Given the description of an element on the screen output the (x, y) to click on. 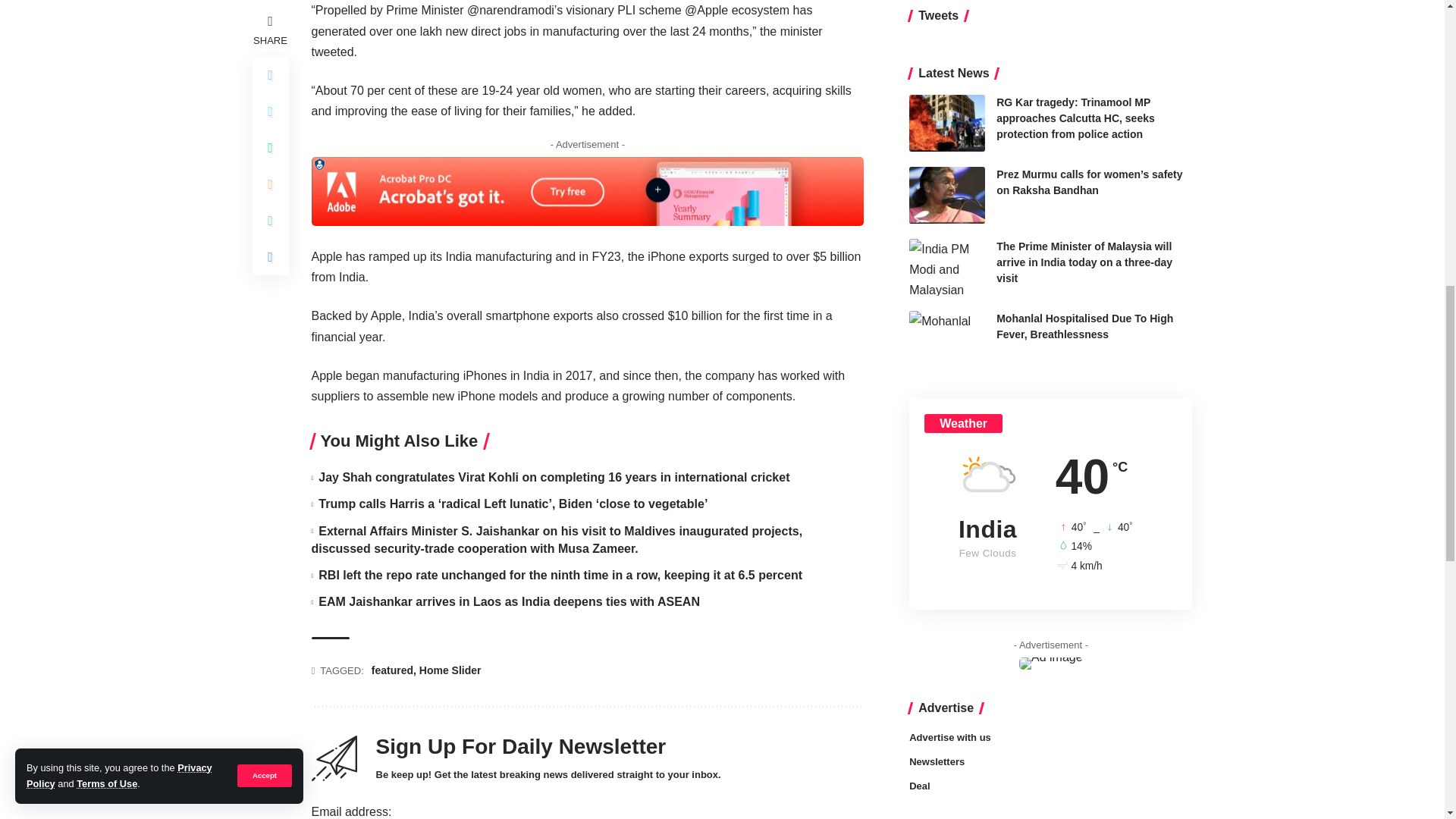
Mohanlal Hospitalised Due To High Fever, Breathlessness (946, 190)
